Given the description of an element on the screen output the (x, y) to click on. 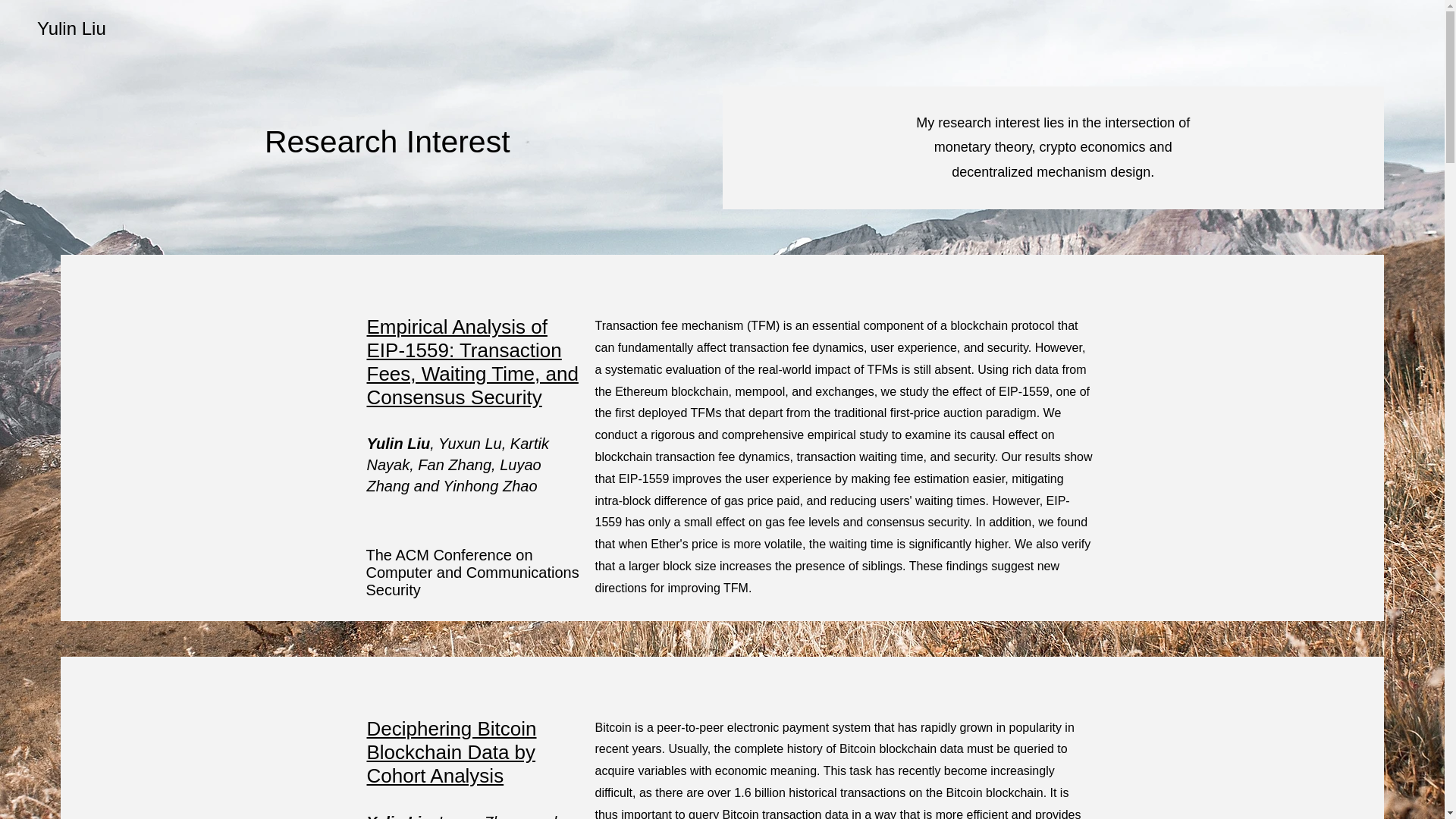
Deciphering Bitcoin Blockchain Data by Cohort Analysis (451, 752)
Yulin Liu (71, 28)
